Given the description of an element on the screen output the (x, y) to click on. 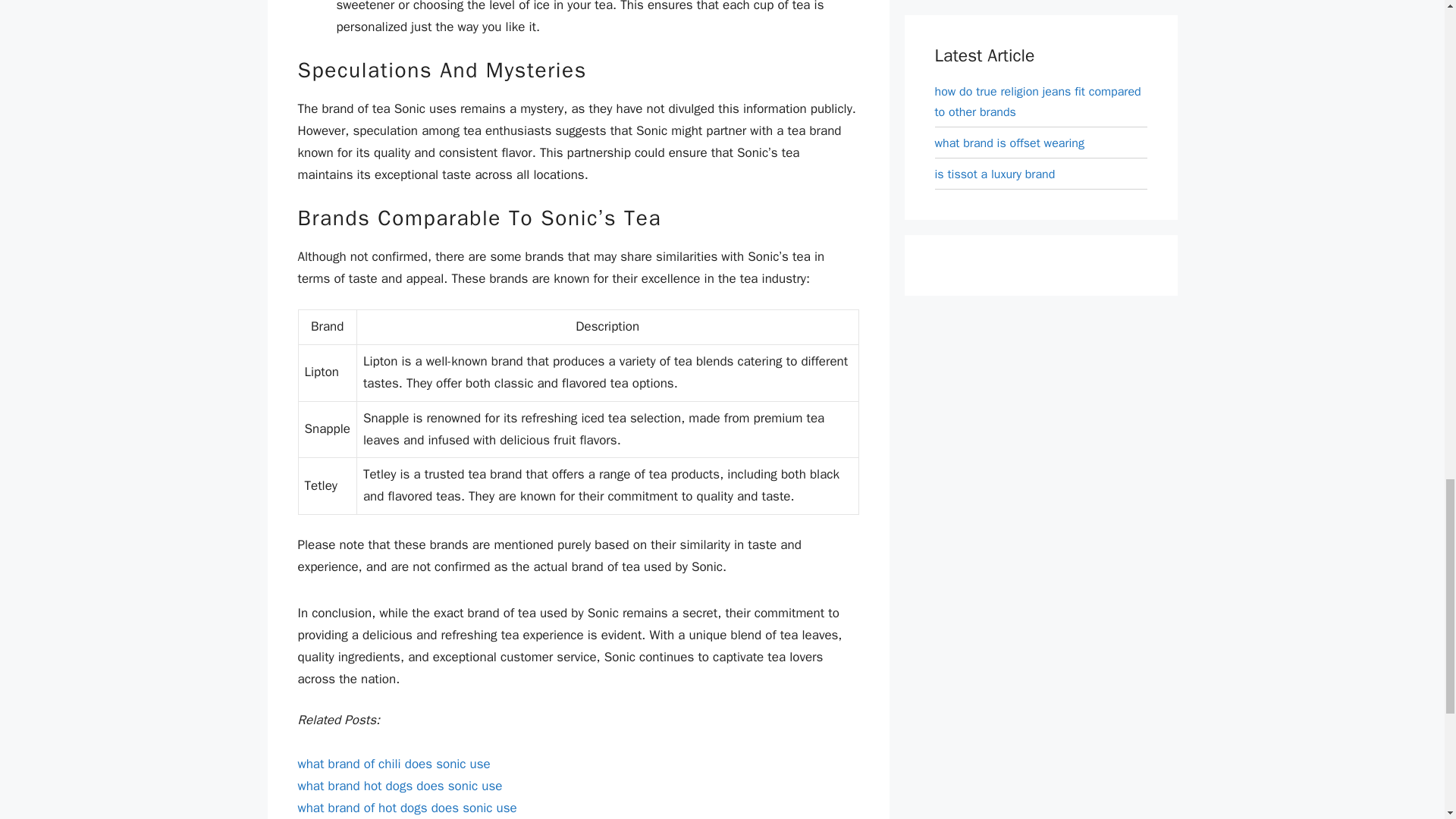
what brand hot dogs does sonic use (399, 785)
what brand of hot dogs does sonic use (406, 807)
what brand of chili does sonic use (393, 763)
